Given the description of an element on the screen output the (x, y) to click on. 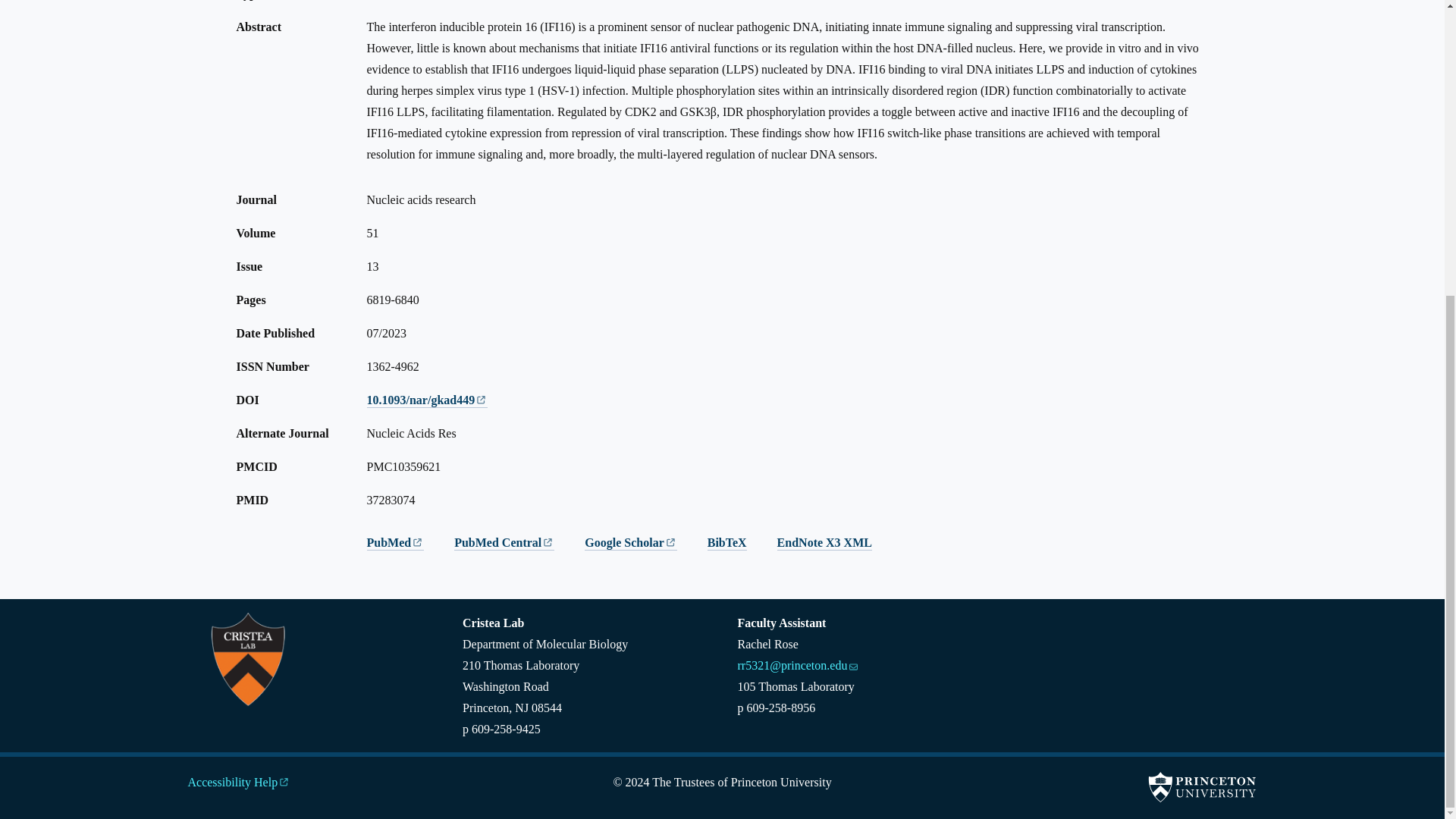
Link is external (480, 394)
EndNote X3 XML (824, 543)
Link is external (547, 537)
Link is external (670, 537)
Link is external (417, 537)
Princeton University (1201, 787)
Link sends email (852, 660)
Link is external (283, 777)
BibTeX (726, 543)
